Given the description of an element on the screen output the (x, y) to click on. 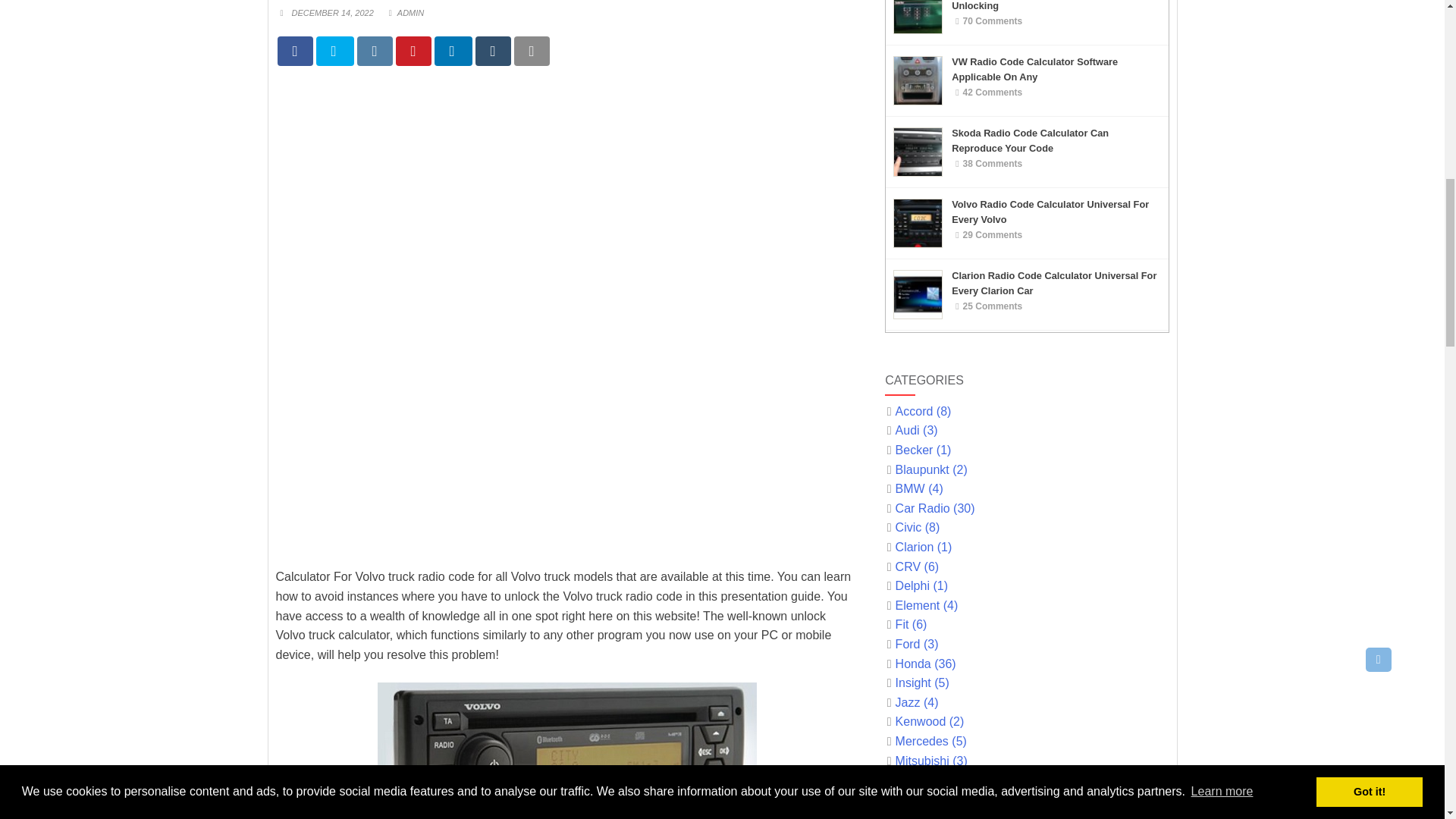
Advertisement (567, 442)
